Given the description of an element on the screen output the (x, y) to click on. 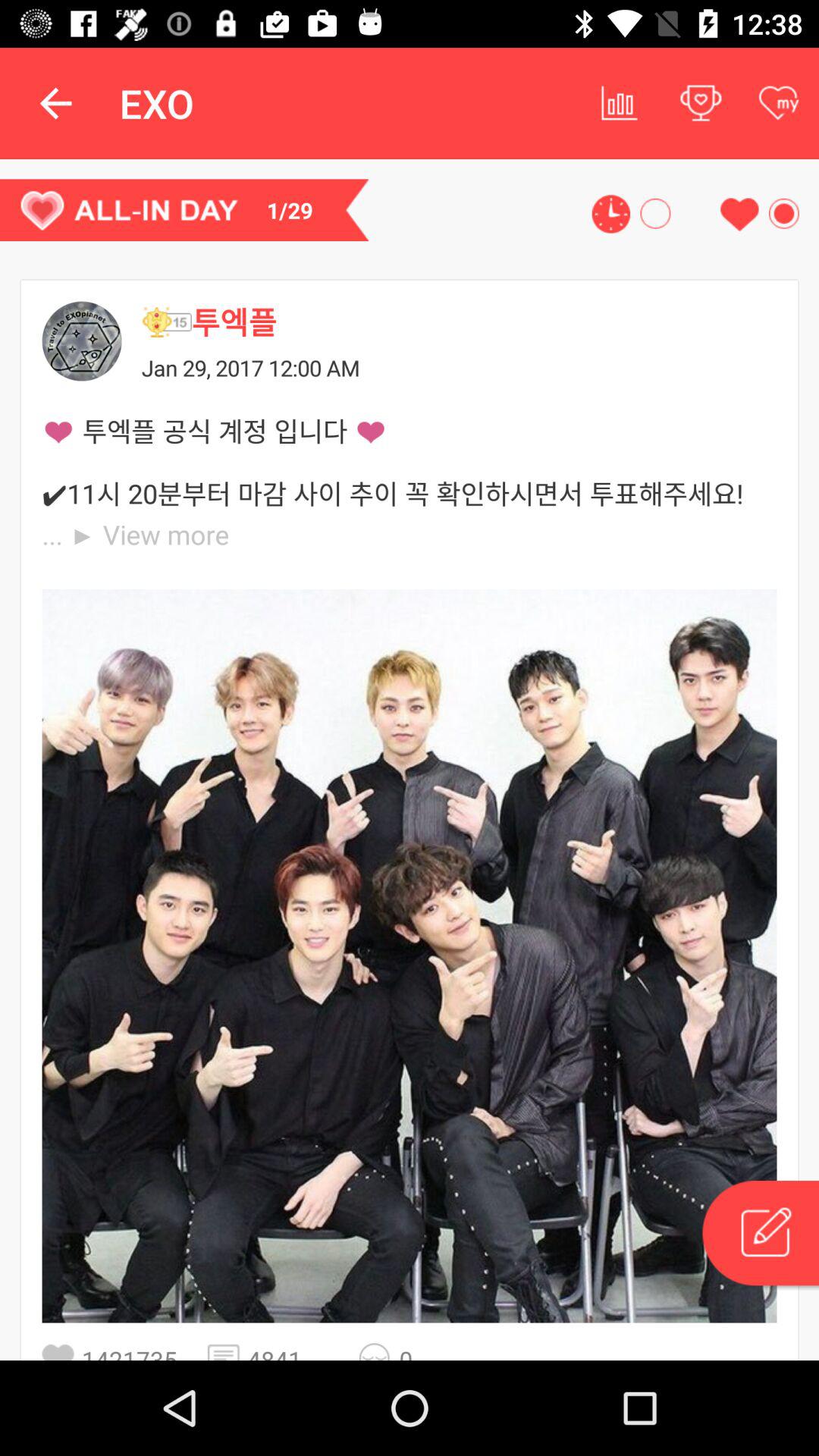
tap the icon above jan 29 2017 item (166, 322)
